Given the description of an element on the screen output the (x, y) to click on. 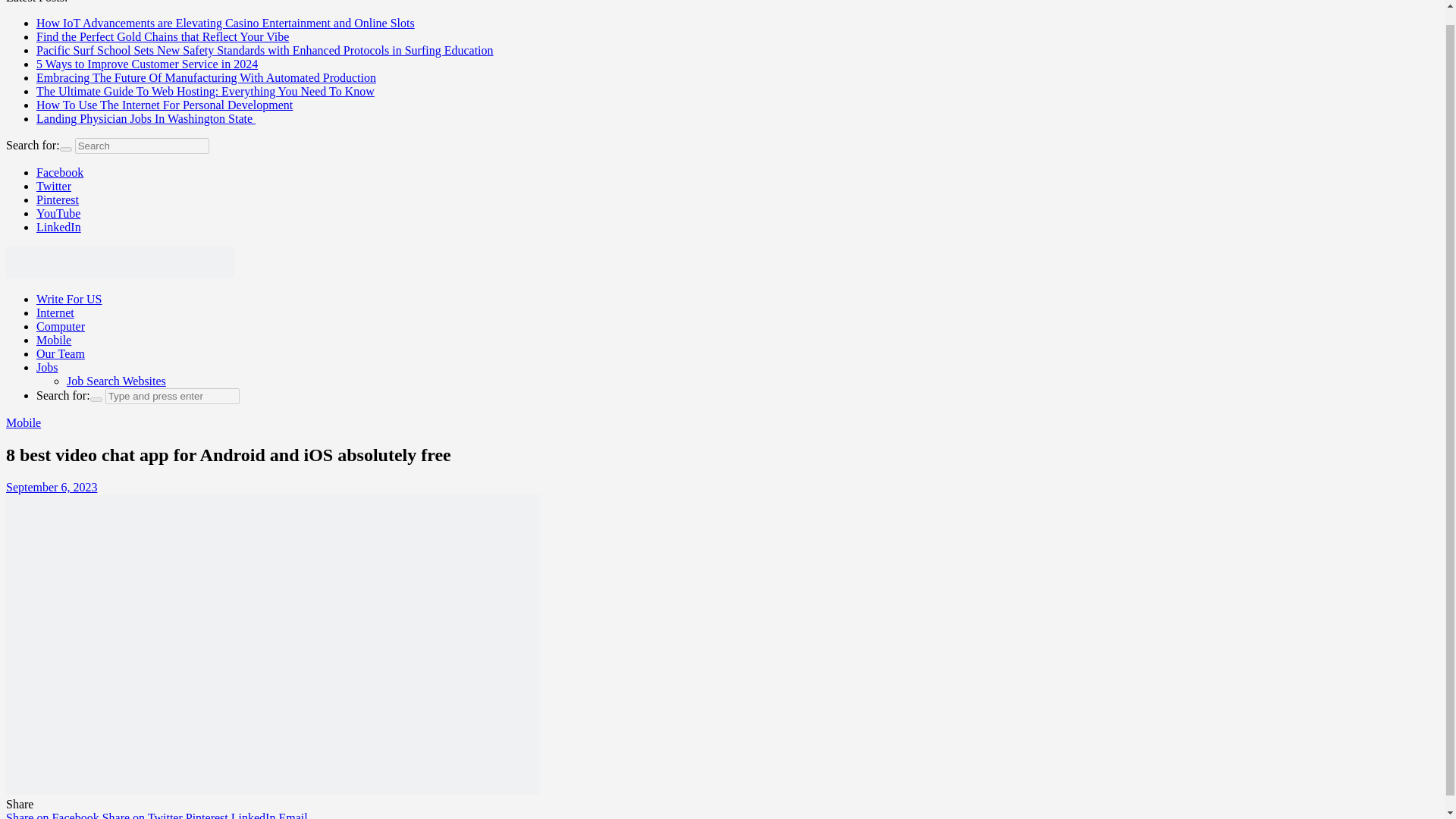
How To Use The Internet For Personal Development (164, 104)
Jobs (47, 367)
Internet (55, 312)
Find the Perfect Gold Chains that Reflect Your Vibe (162, 36)
YouTube (58, 213)
Landing Physician Jobs In Washington State  (146, 118)
Facebook (59, 172)
Find the Perfect Gold Chains that Reflect Your Vibe (162, 36)
Mobile (53, 339)
